Given the description of an element on the screen output the (x, y) to click on. 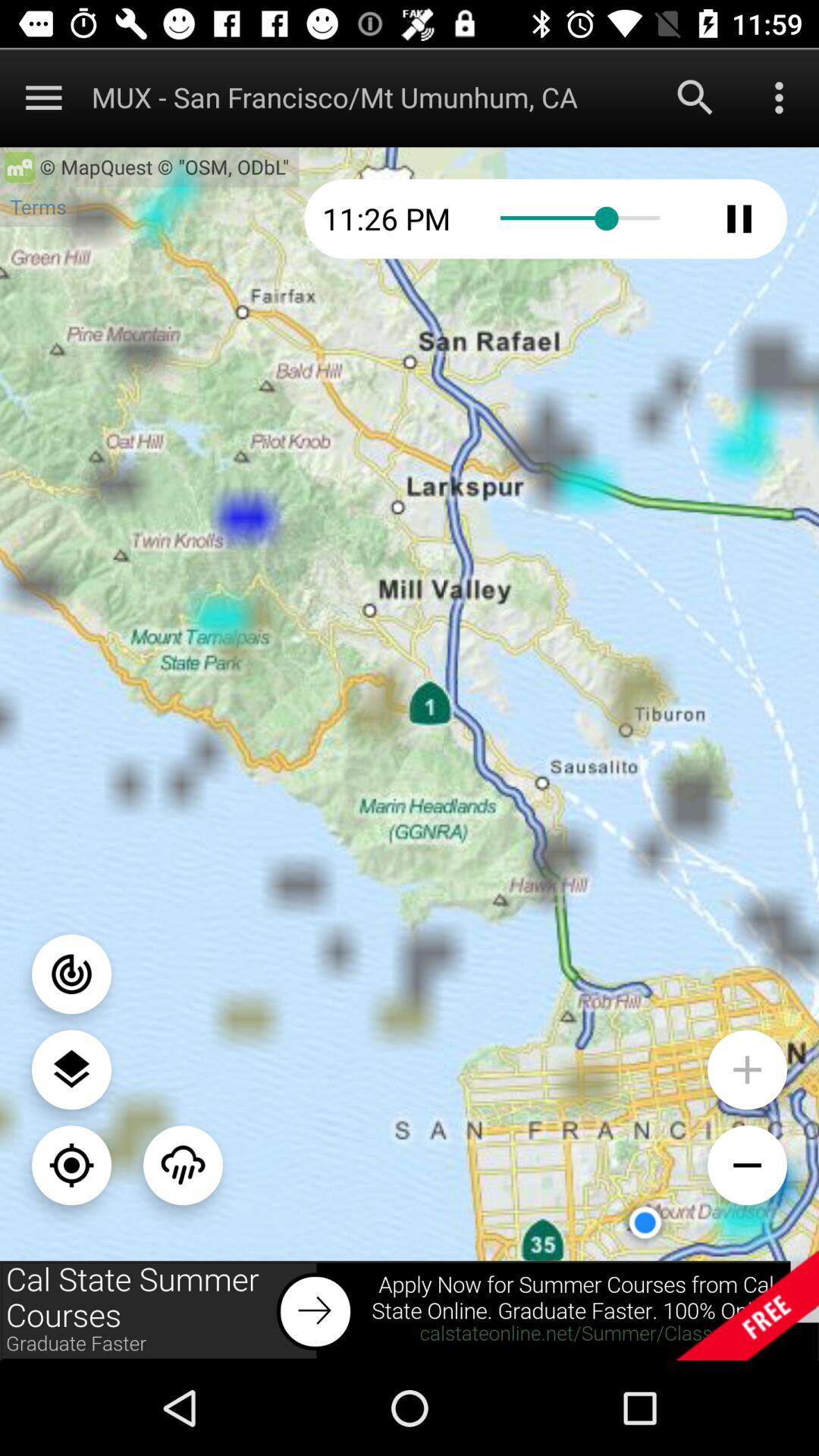
show options (779, 97)
